Given the description of an element on the screen output the (x, y) to click on. 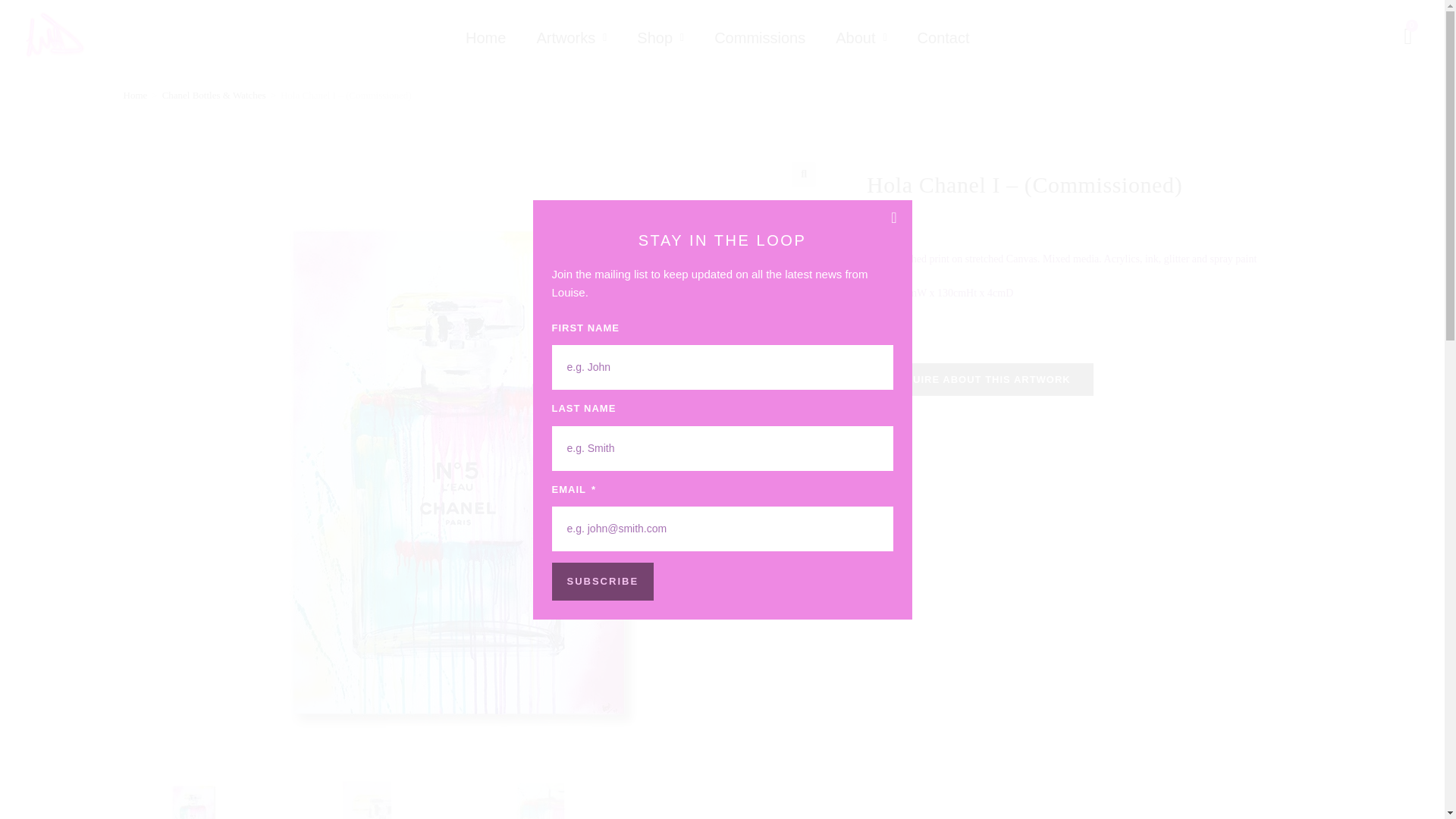
Shop (659, 37)
Contact (943, 37)
Commissions (759, 37)
Artworks (571, 37)
Home (485, 37)
About (861, 37)
